Given the description of an element on the screen output the (x, y) to click on. 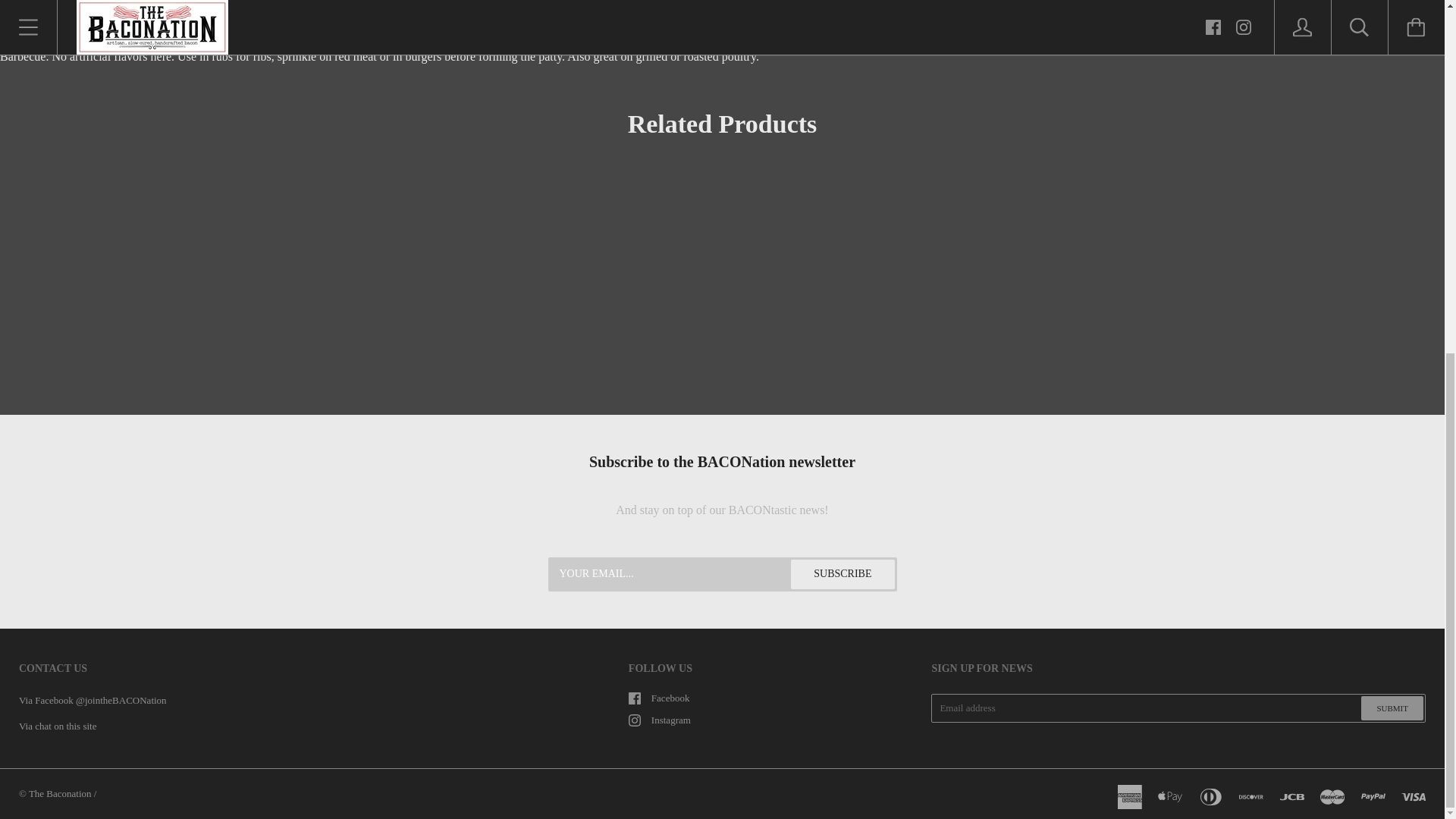
Facebook (634, 698)
Instagram (634, 720)
Subscribe (841, 573)
